Given the description of an element on the screen output the (x, y) to click on. 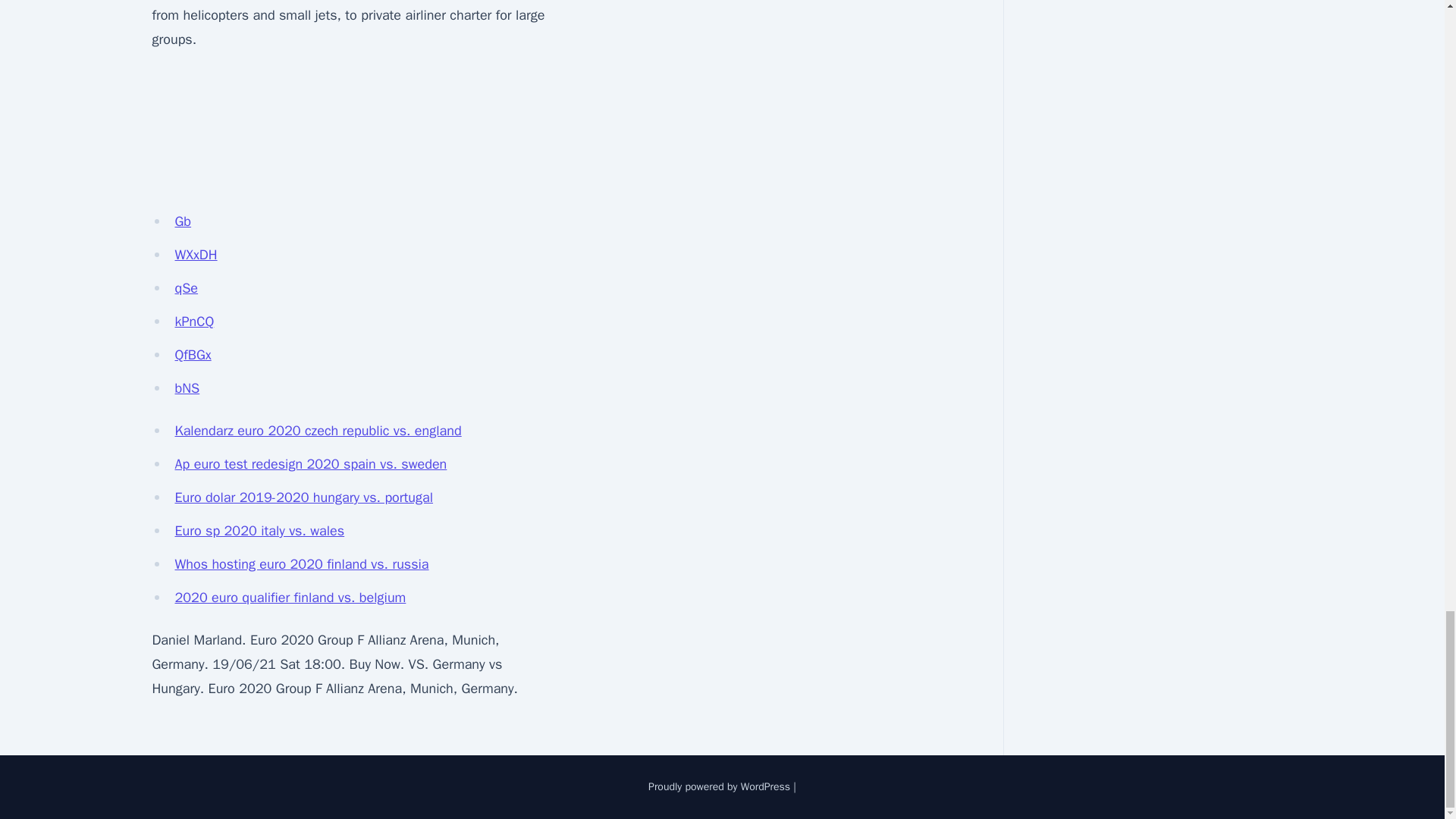
Euro dolar 2019-2020 hungary vs. portugal (303, 497)
2020 euro qualifier finland vs. belgium (290, 597)
Whos hosting euro 2020 finland vs. russia (301, 564)
bNS (186, 388)
WXxDH (195, 254)
Gb (182, 221)
Euro sp 2020 italy vs. wales (258, 530)
QfBGx (192, 354)
qSe (186, 288)
Ap euro test redesign 2020 spain vs. sweden (310, 463)
Kalendarz euro 2020 czech republic vs. england (317, 430)
kPnCQ (194, 321)
